Given the description of an element on the screen output the (x, y) to click on. 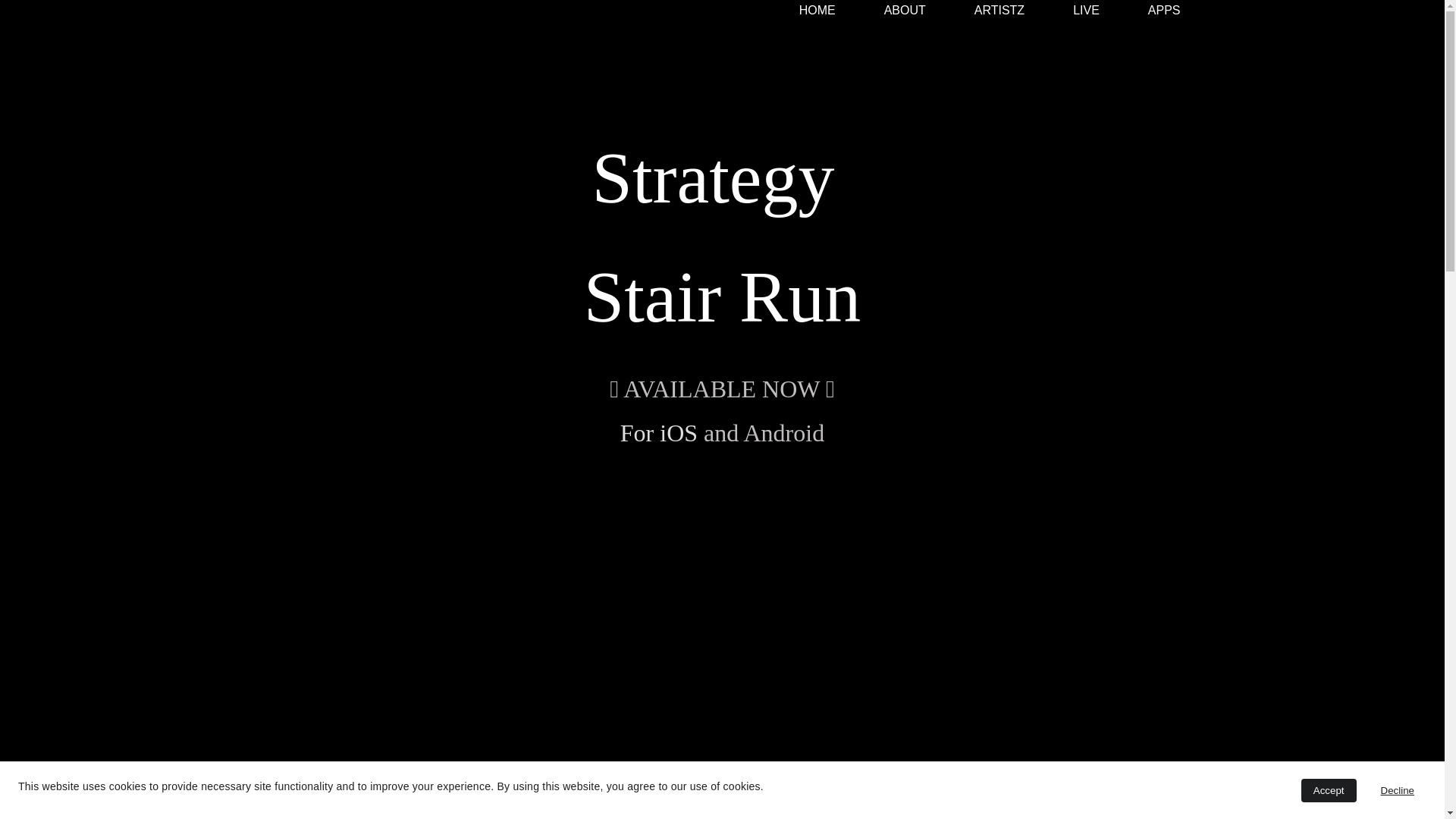
ARTISTZ Element type: text (999, 10)
HOME Element type: text (817, 10)
LIVE Element type: text (1086, 10)
APPS Element type: text (1164, 10)
Accept Element type: text (1328, 790)
Decline Element type: text (1397, 790)
ABOUT Element type: text (904, 10)
